Given the description of an element on the screen output the (x, y) to click on. 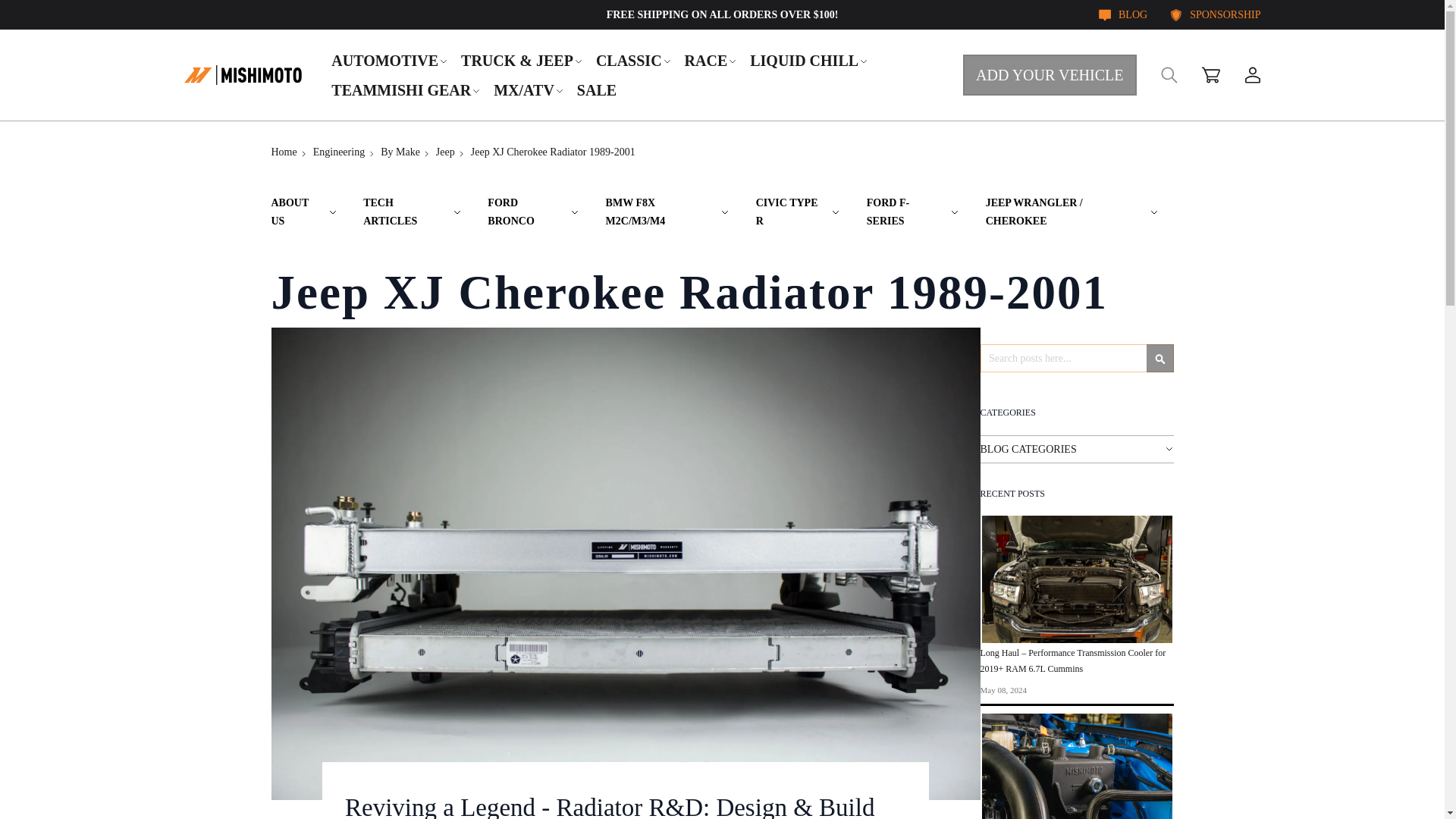
BLOG (1123, 14)
AUTOMOTIVE (390, 59)
Engineering (339, 151)
By Make (400, 151)
SPONSORSHIP (1215, 14)
Jeep (444, 151)
Mishimoto (242, 74)
Go to Home Page (283, 151)
